Given the description of an element on the screen output the (x, y) to click on. 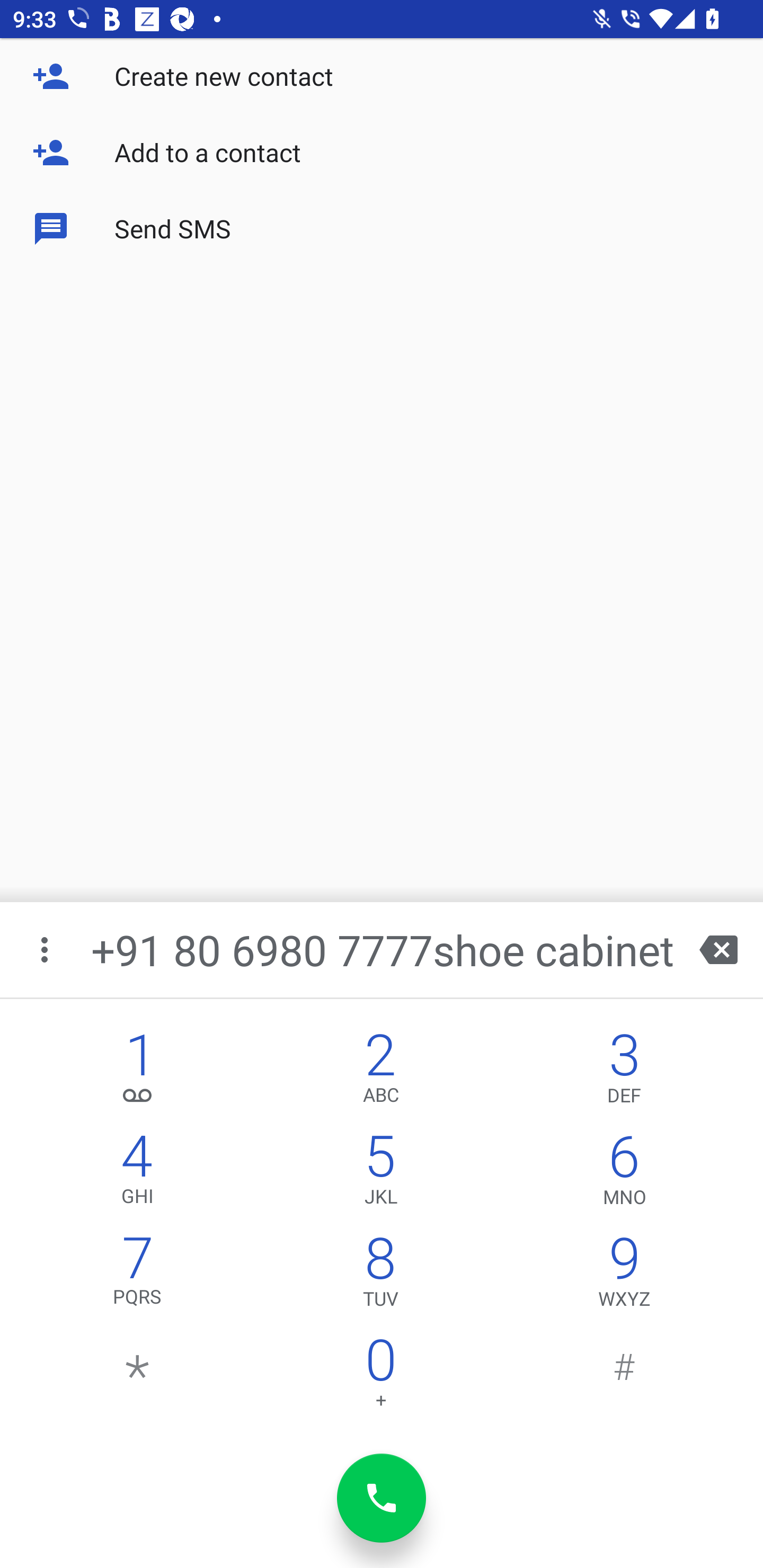
Create new contact (381, 75)
Add to a contact (381, 152)
Send SMS (381, 228)
+91 80 6980 7777shoe cabinet (382, 949)
backspace (718, 949)
More options (45, 949)
1, 1 (137, 1071)
2,ABC 2 ABC (380, 1071)
3,DEF 3 DEF (624, 1071)
4,GHI 4 GHI (137, 1173)
5,JKL 5 JKL (380, 1173)
6,MNO 6 MNO (624, 1173)
7,PQRS 7 PQRS (137, 1275)
8,TUV 8 TUV (380, 1275)
9,WXYZ 9 WXYZ (624, 1275)
* (137, 1377)
0 0 + (380, 1377)
# (624, 1377)
dial (381, 1497)
